Given the description of an element on the screen output the (x, y) to click on. 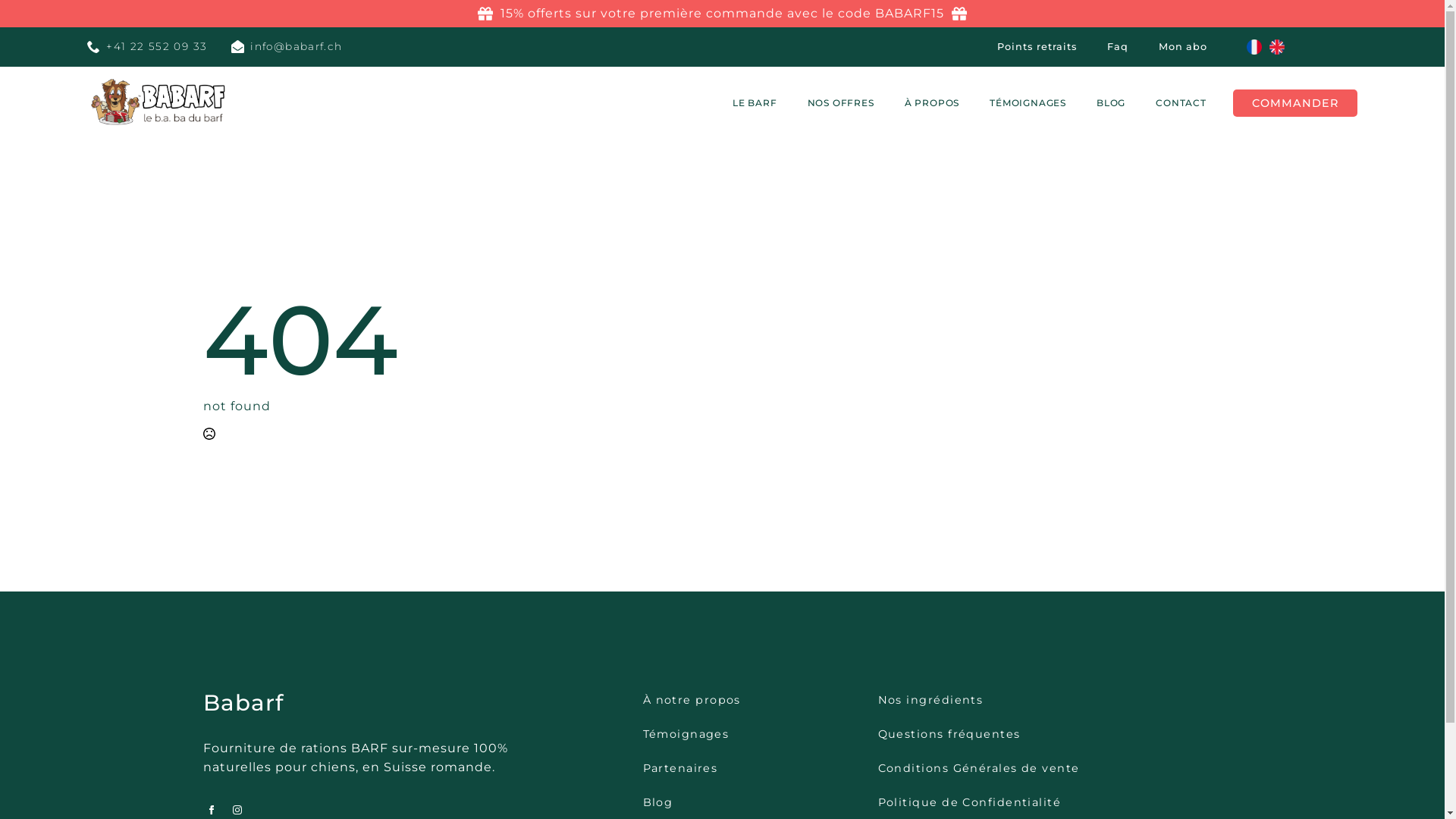
NOS OFFRES Element type: text (840, 102)
Mon abo Element type: text (1182, 47)
Partenaires Element type: text (680, 768)
LE BARF Element type: text (754, 102)
Points retraits Element type: text (1036, 47)
BLOG Element type: text (1110, 102)
CONTACT Element type: text (1180, 102)
Blog Element type: text (658, 802)
info@babarf.ch Element type: text (286, 46)
Faq Element type: text (1117, 47)
+41 22 552 09 33 Element type: text (147, 46)
COMMANDER Element type: text (1295, 102)
